Given the description of an element on the screen output the (x, y) to click on. 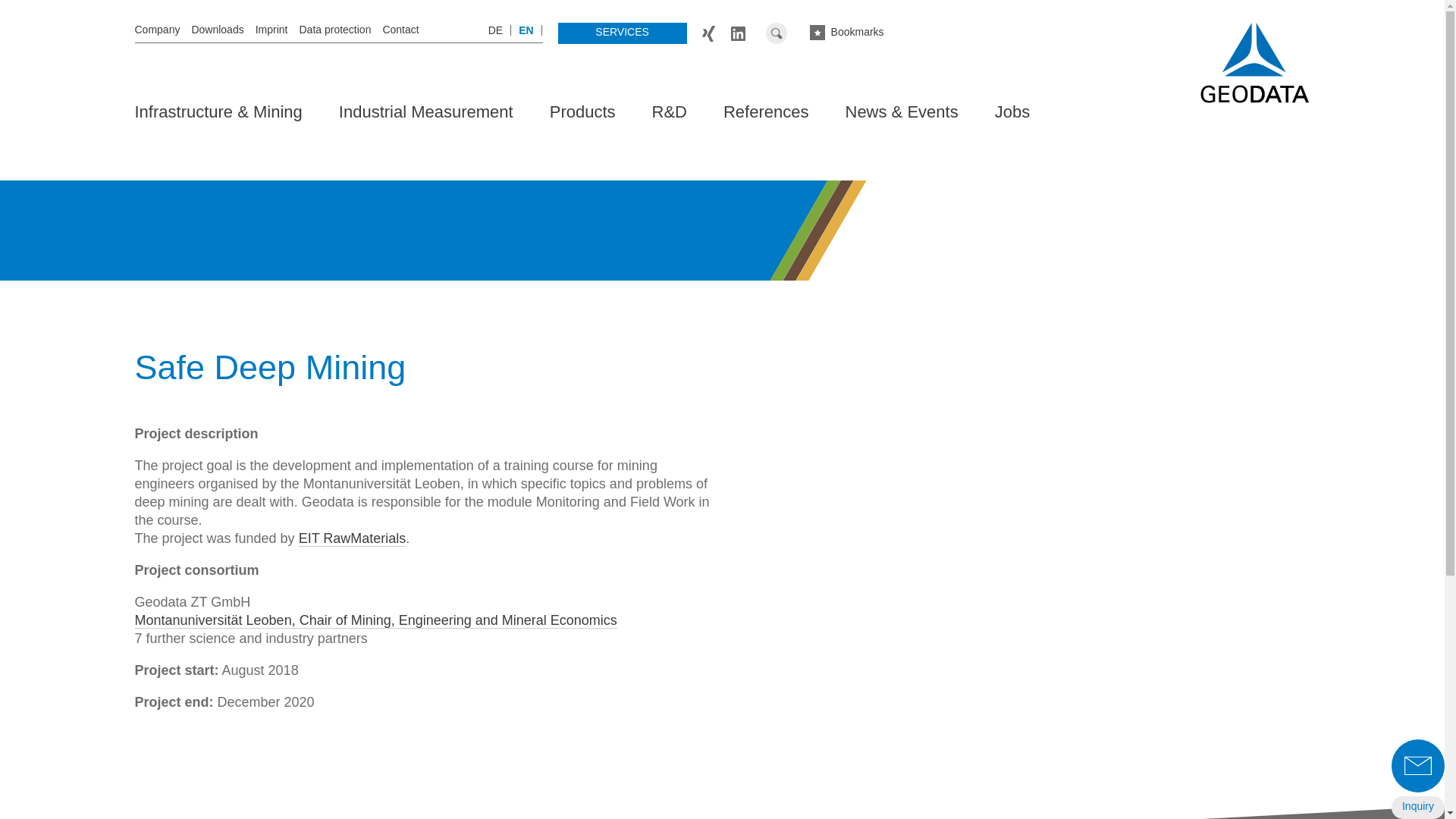
Imprint (272, 29)
Data protection (334, 29)
Downloads (216, 29)
Products (582, 119)
Contact (400, 29)
Company (157, 29)
EN (525, 30)
DE (495, 30)
Industrial Measurement (426, 119)
